Given the description of an element on the screen output the (x, y) to click on. 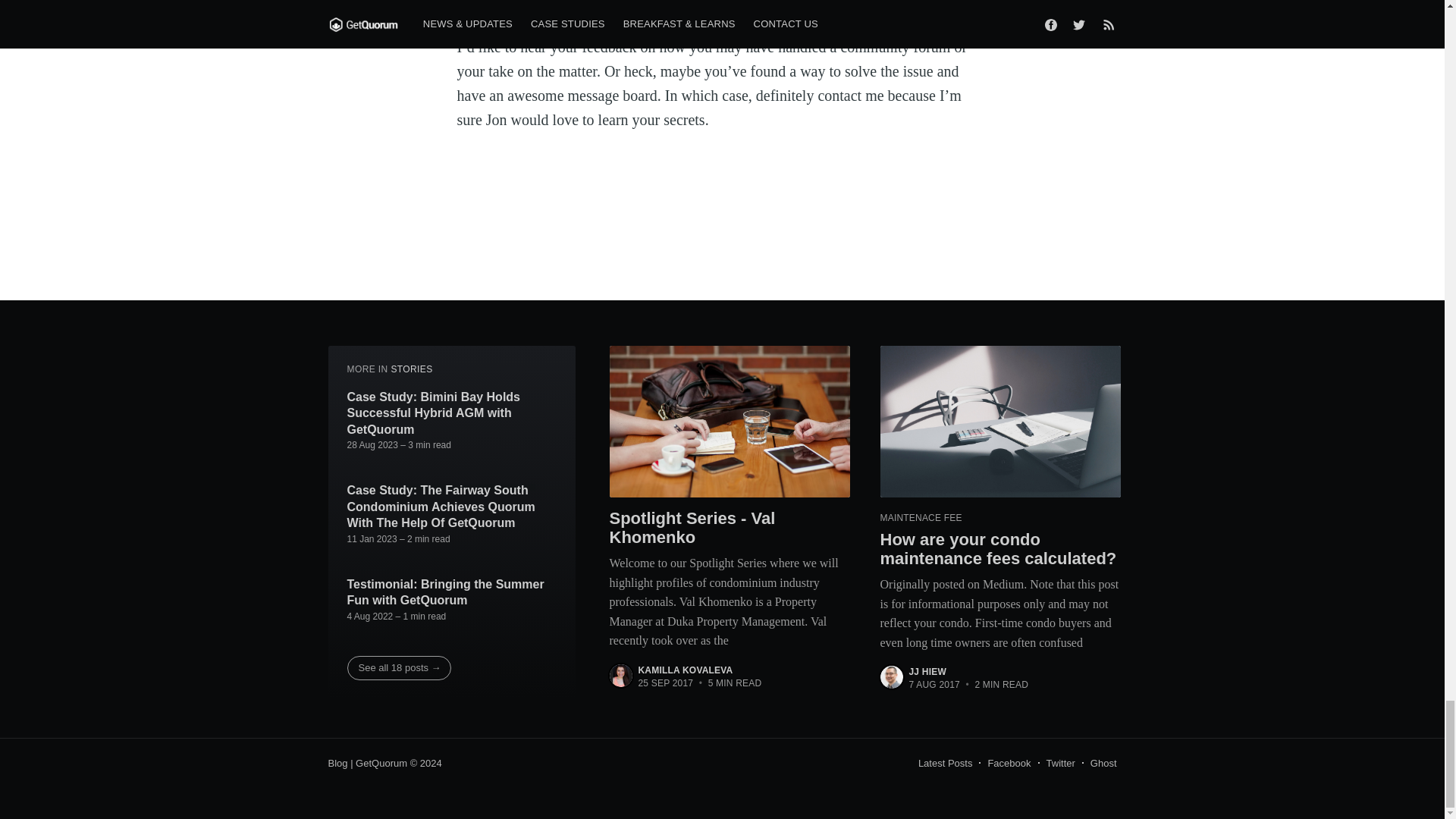
Twitter (1060, 763)
Ghost (1103, 763)
KAMILLA KOVALEVA (686, 670)
STORIES (411, 368)
Facebook (1008, 763)
Testimonial: Bringing the Summer Fun with GetQuorum (451, 592)
JJ HIEW (926, 671)
Latest Posts (945, 763)
